Given the description of an element on the screen output the (x, y) to click on. 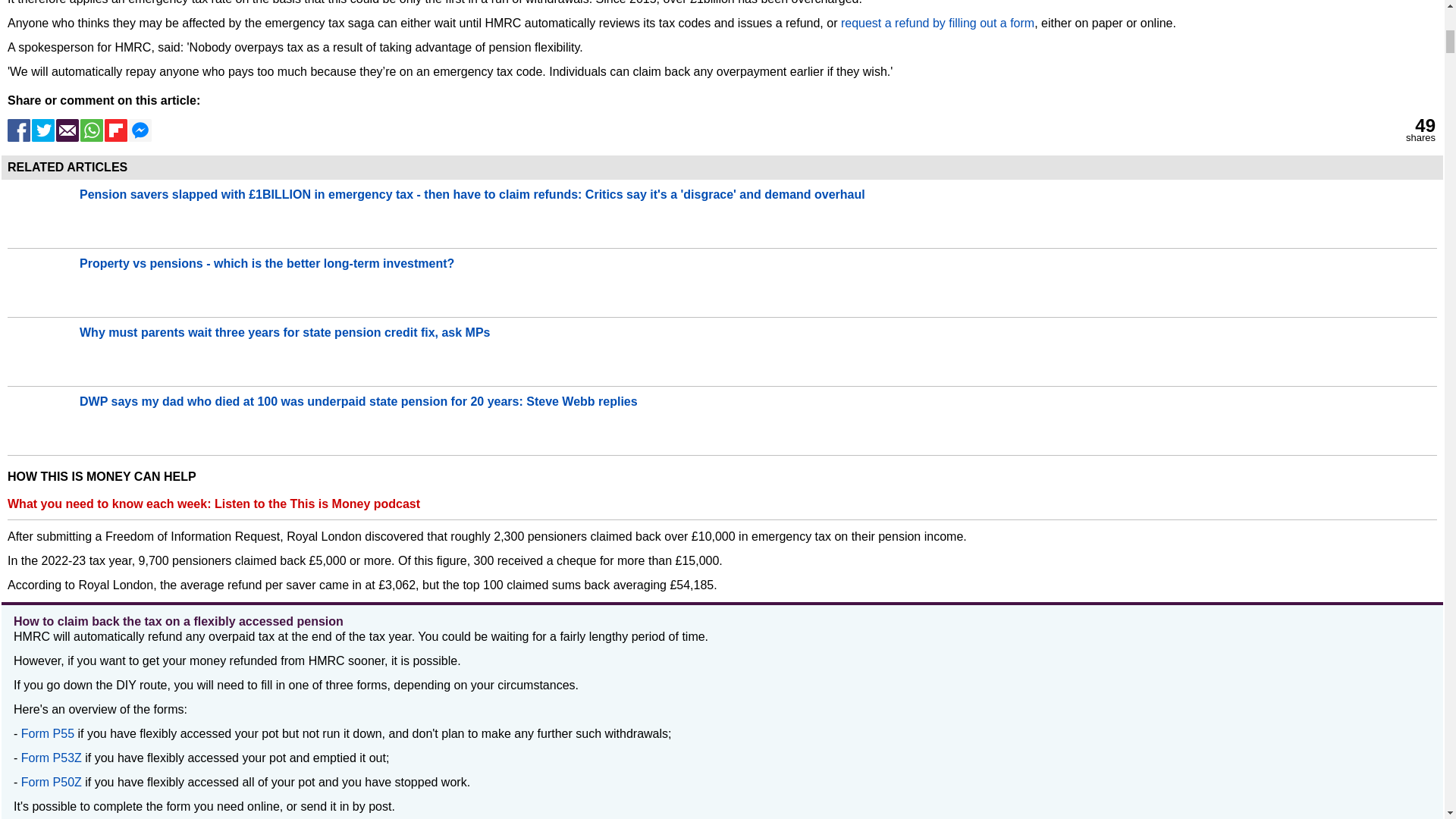
Form P53Z (51, 757)
Form P50Z (51, 781)
Form P55 (49, 733)
request a refund by filling out a form (937, 22)
